Given the description of an element on the screen output the (x, y) to click on. 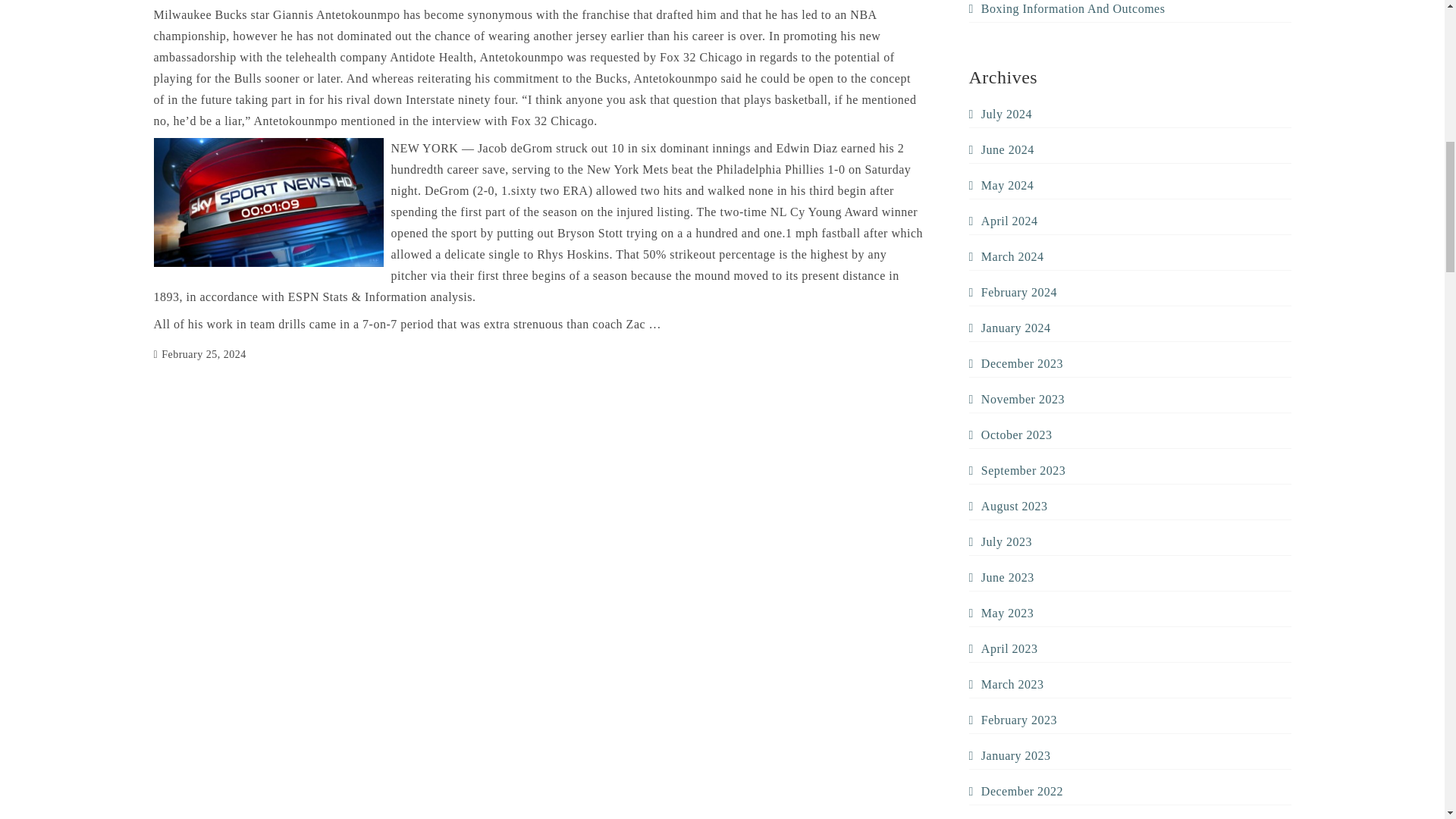
June 2024 (1001, 149)
December 2022 (1016, 791)
January 2024 (1010, 328)
February 2024 (1013, 292)
Boxing Information And Outcomes (1067, 8)
November 2023 (1016, 399)
October 2023 (1010, 434)
March 2024 (1006, 257)
July 2023 (1000, 542)
June 2023 (1001, 577)
March 2023 (1006, 684)
July 2024 (1000, 114)
January 2023 (1010, 755)
May 2023 (1001, 613)
December 2023 (1016, 363)
